Given the description of an element on the screen output the (x, y) to click on. 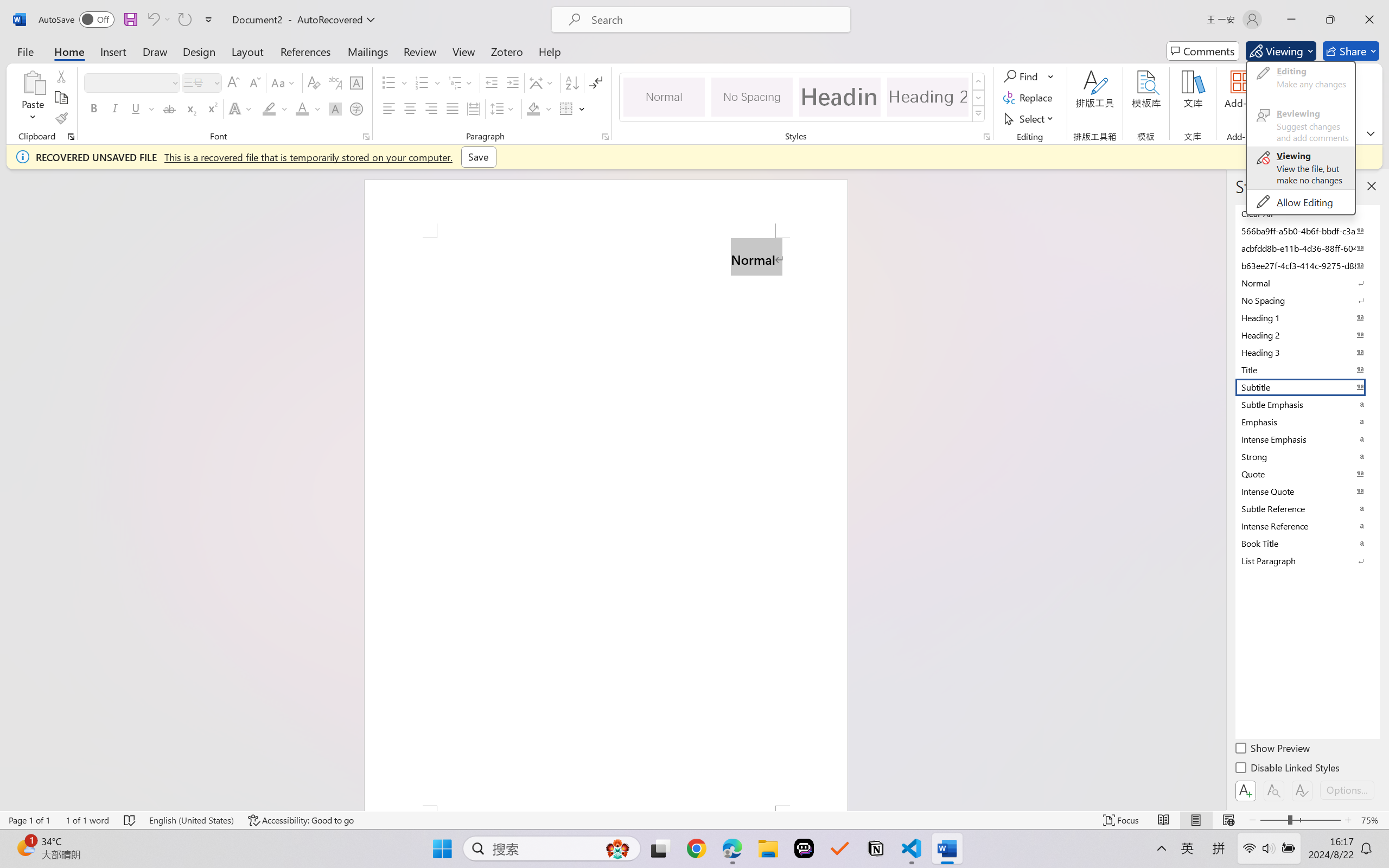
&Mode (1300, 137)
Grow Font (233, 82)
Subtle Reference (1306, 508)
Text Highlight Color (274, 108)
Font Color (308, 108)
Superscript (210, 108)
Change Case (284, 82)
